Given the description of an element on the screen output the (x, y) to click on. 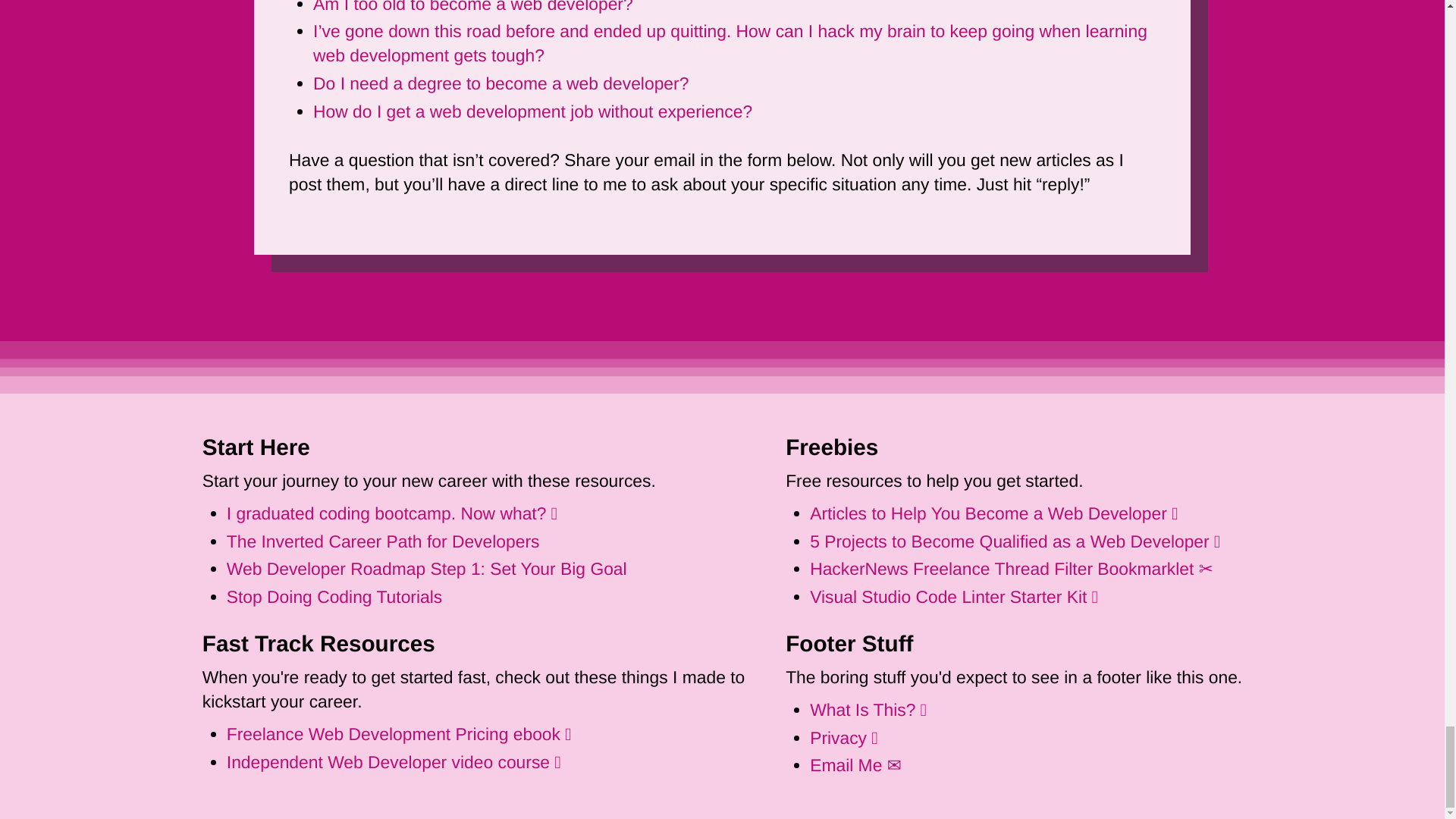
Web Developer Roadmap Step 1: Set Your Big Goal (427, 568)
Do I need a degree to become a web developer? (500, 83)
The Inverted Career Path for Developers (383, 541)
Am I too old to become a web developer? (473, 6)
Stop Doing Coding Tutorials (334, 596)
How do I get a web development job without experience? (532, 111)
